Given the description of an element on the screen output the (x, y) to click on. 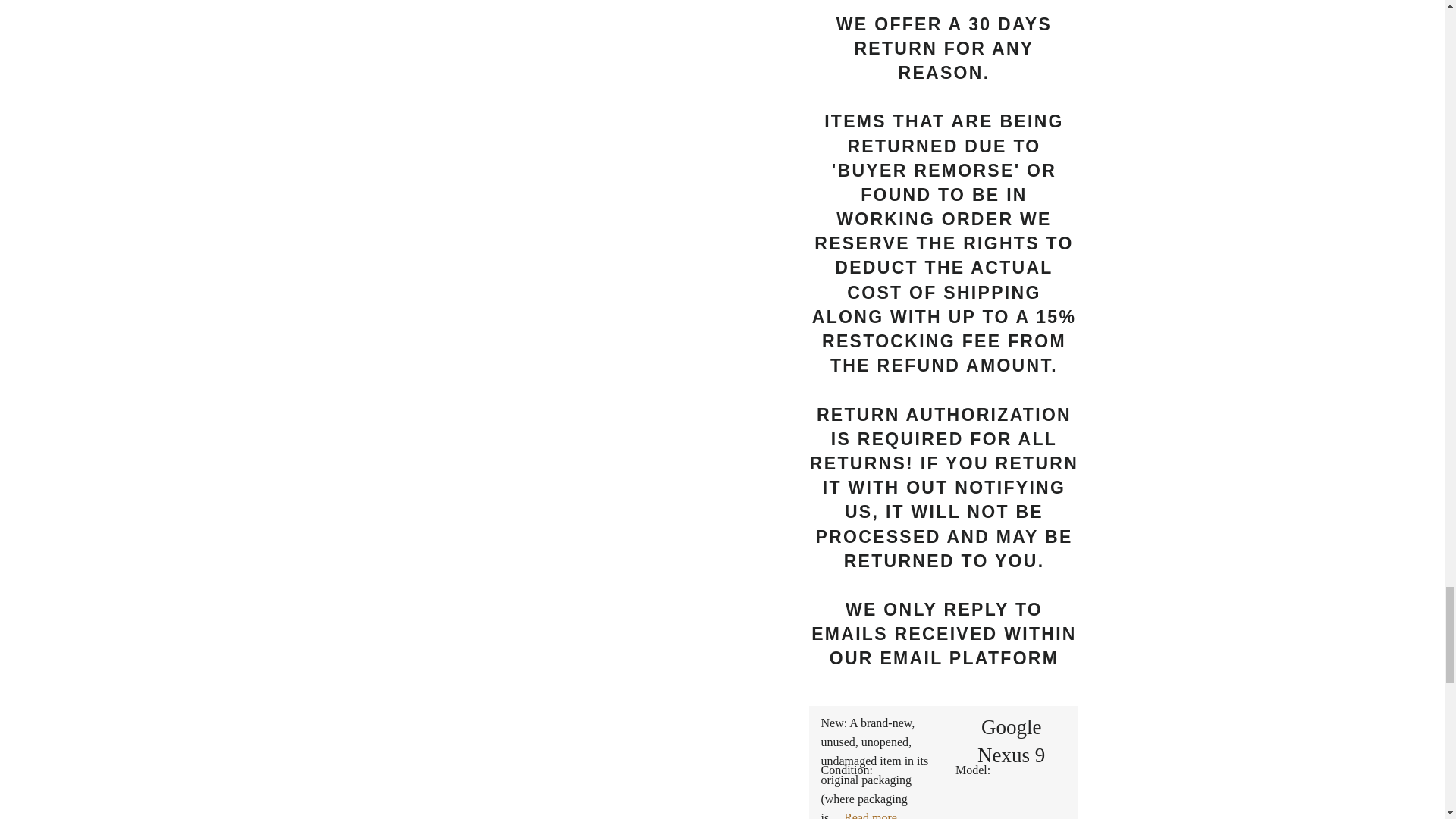
Read more (870, 815)
